Given the description of an element on the screen output the (x, y) to click on. 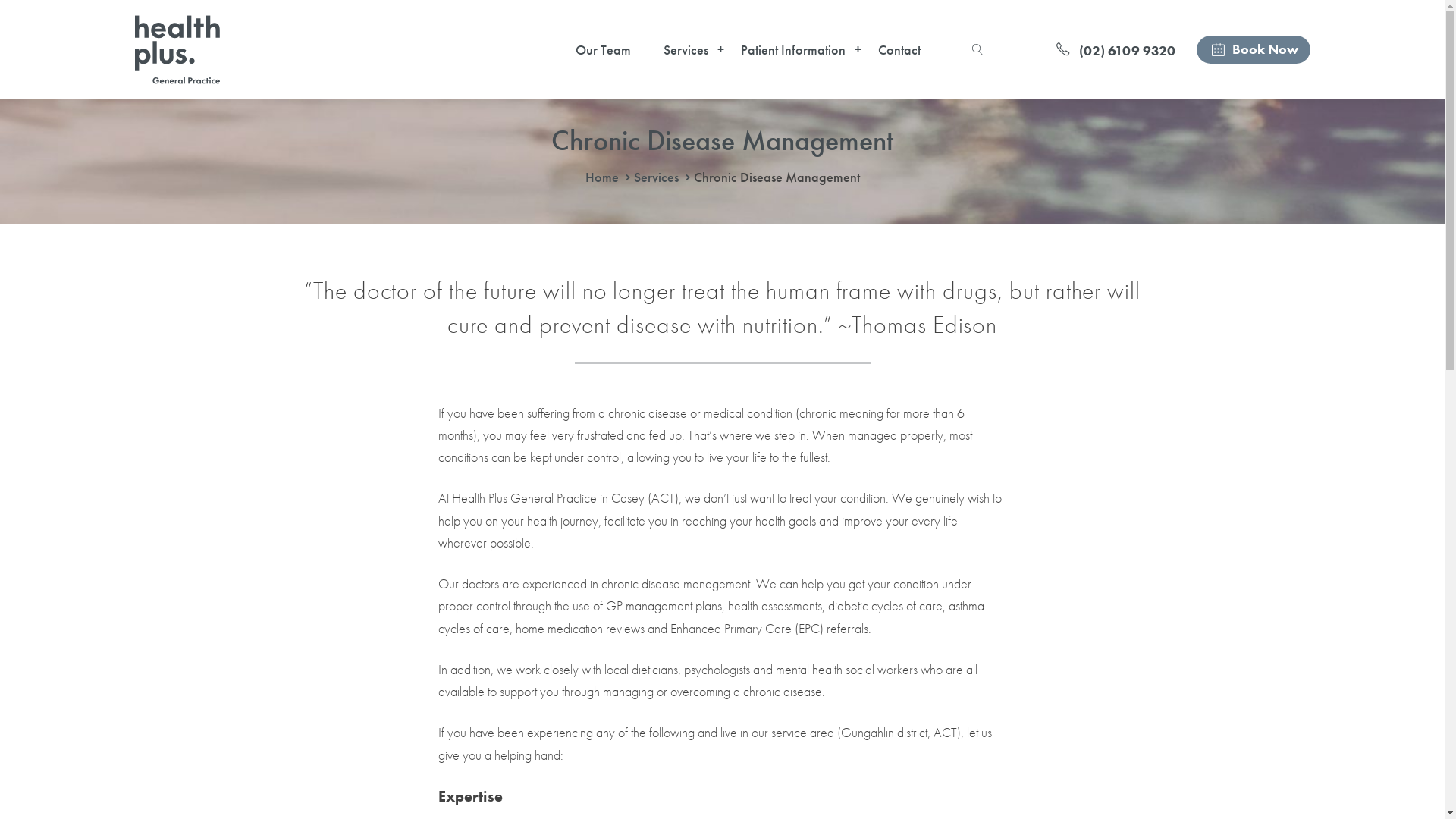
Book Now Element type: text (1253, 48)
Home Element type: text (601, 177)
(02) 6109 9320 Element type: text (1115, 48)
Our Team Element type: text (598, 49)
Services
+ Element type: text (681, 49)
Health Plus Element type: text (176, 49)
Patient Information
+ Element type: text (788, 49)
Services Element type: text (655, 177)
Contact Element type: text (894, 49)
